Given the description of an element on the screen output the (x, y) to click on. 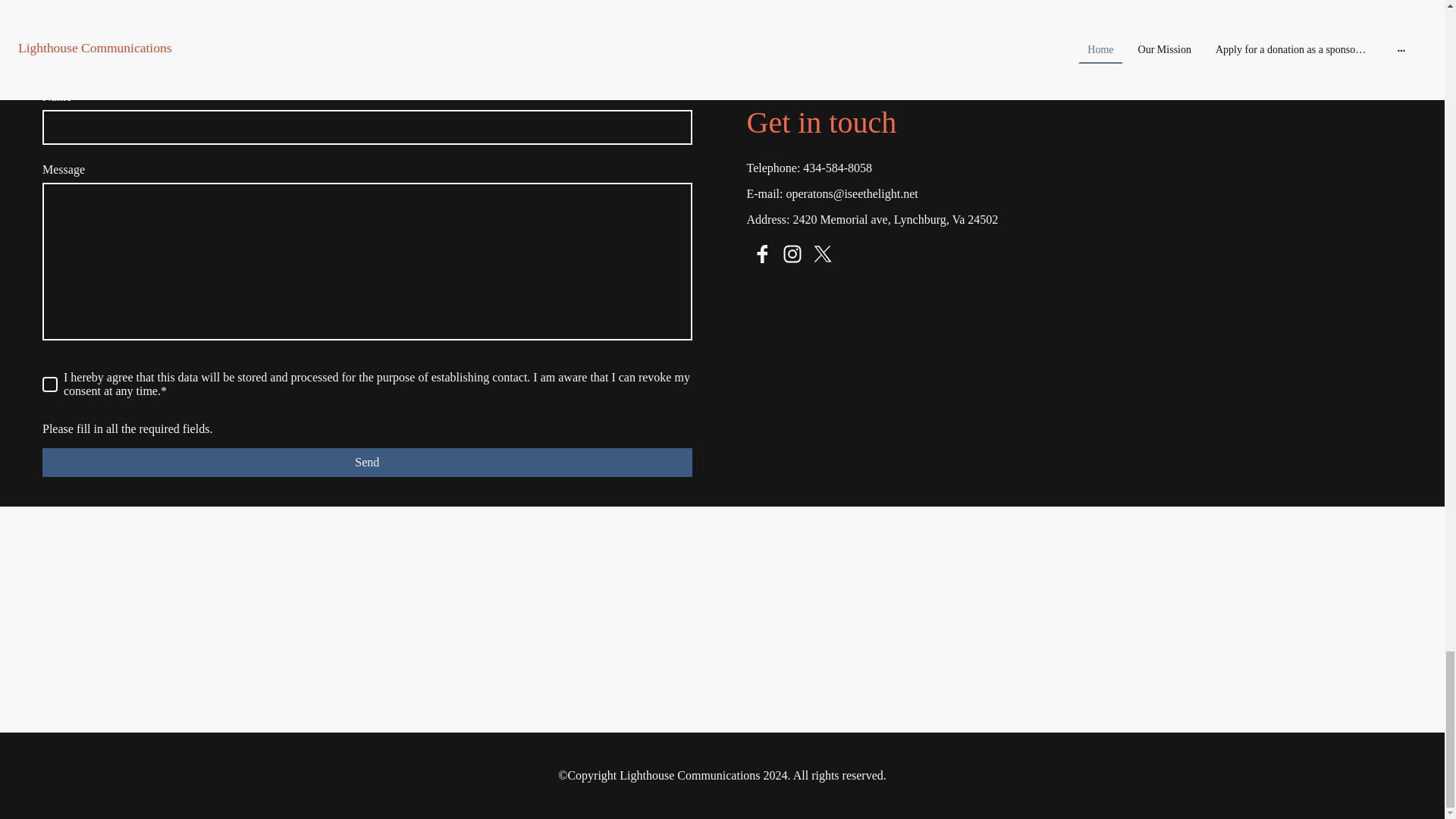
Send (367, 461)
